Given the description of an element on the screen output the (x, y) to click on. 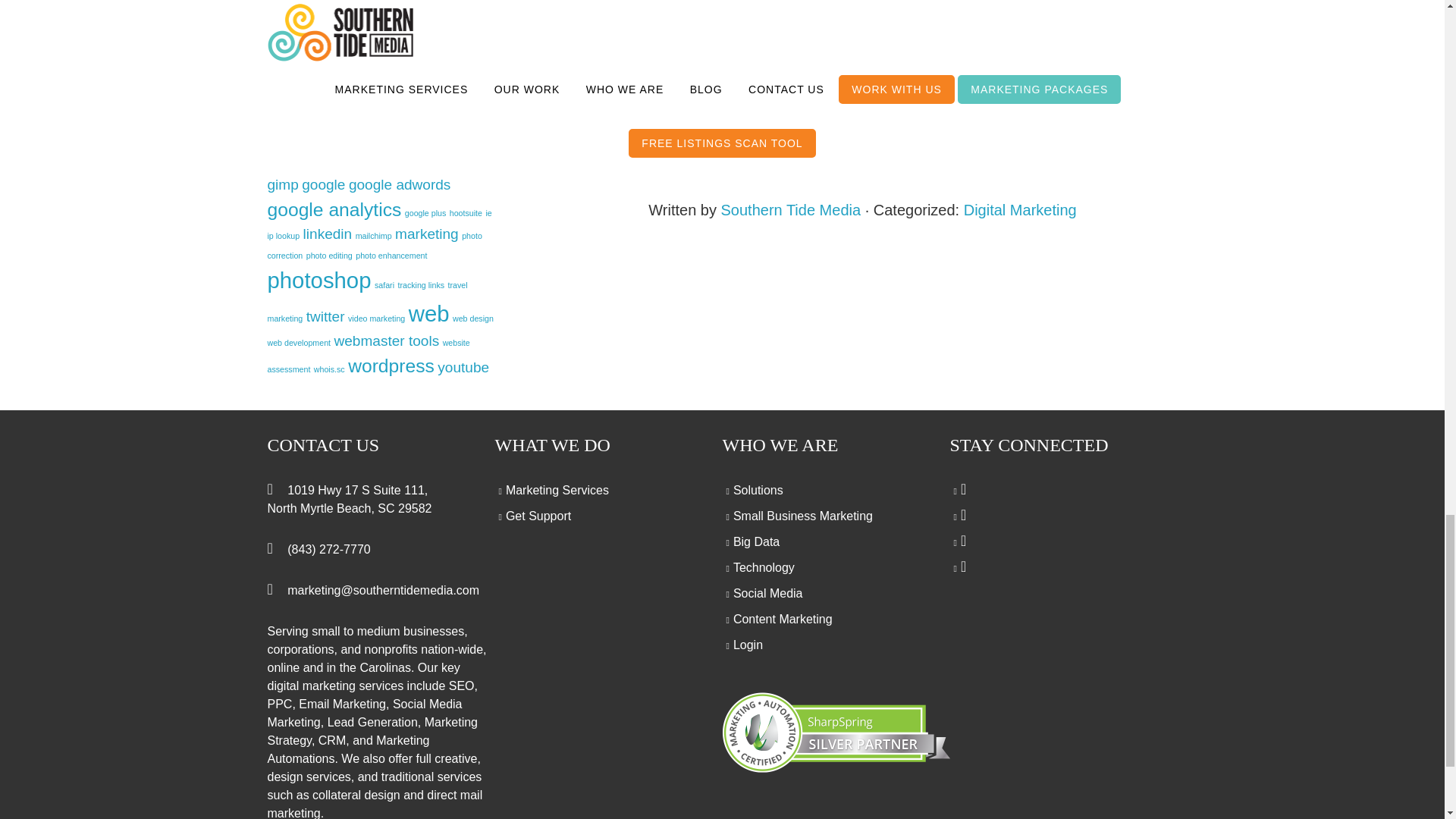
Southern Tide Media (790, 209)
Digital Marketing (1020, 209)
